Given the description of an element on the screen output the (x, y) to click on. 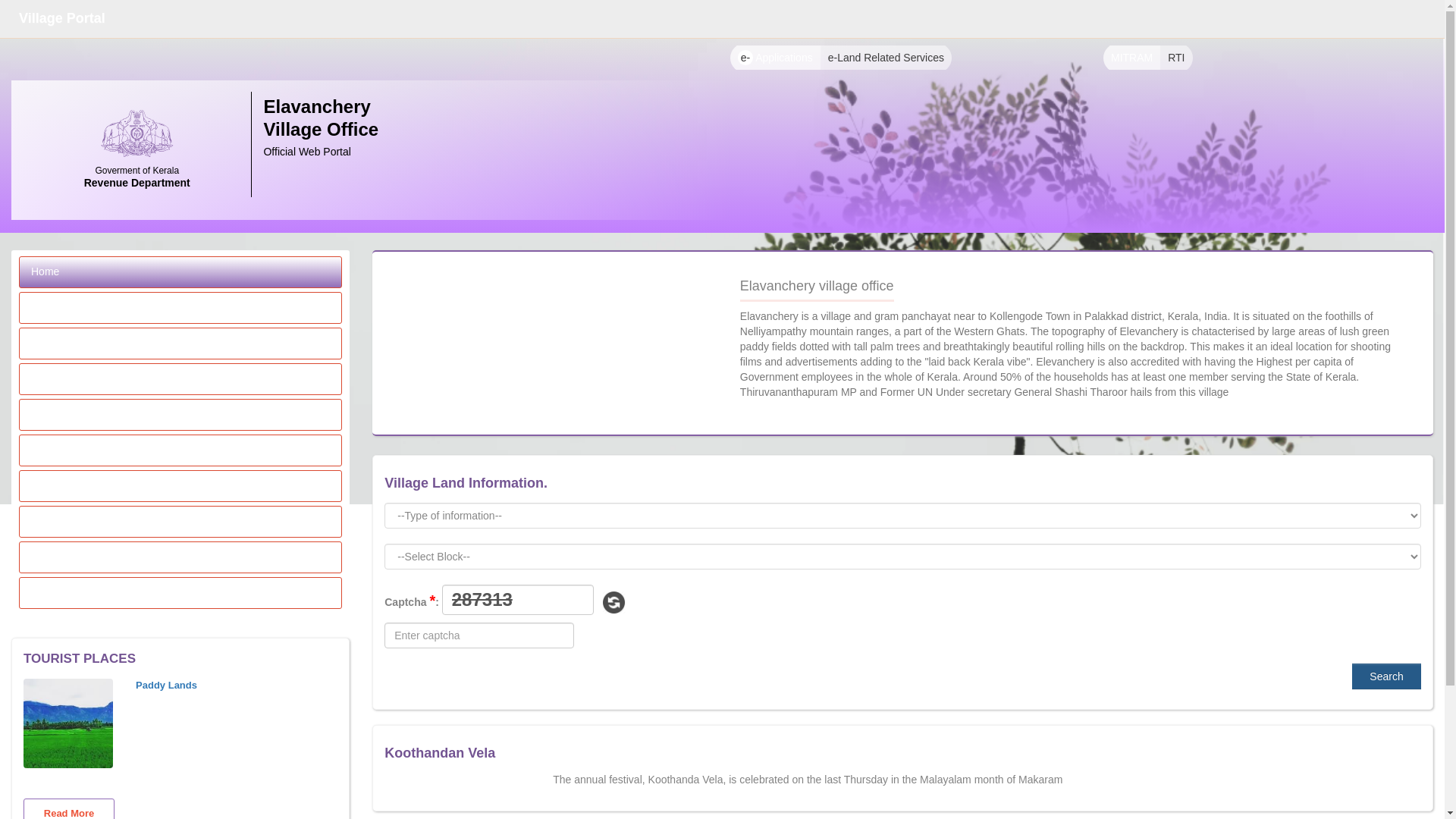
Elavanchery village office (180, 343)
Locate Us (180, 557)
Home (180, 272)
Services (180, 414)
287313 (518, 599)
e- Applications (775, 57)
Pay Your Land Tax (180, 378)
RTI (1176, 57)
MITRAM (1131, 57)
Right To Service (180, 485)
